Given the description of an element on the screen output the (x, y) to click on. 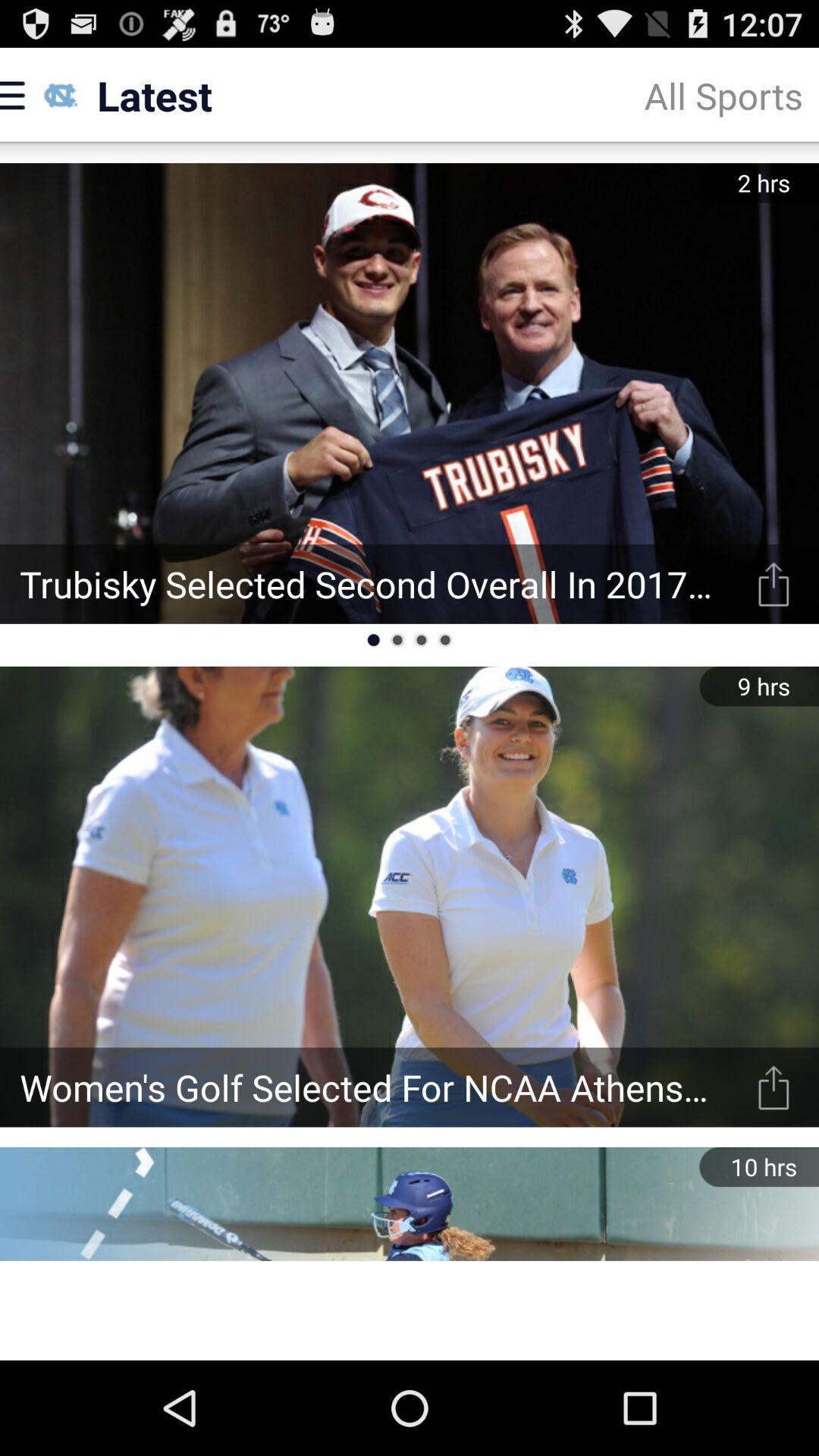
share link (773, 1087)
